Given the description of an element on the screen output the (x, y) to click on. 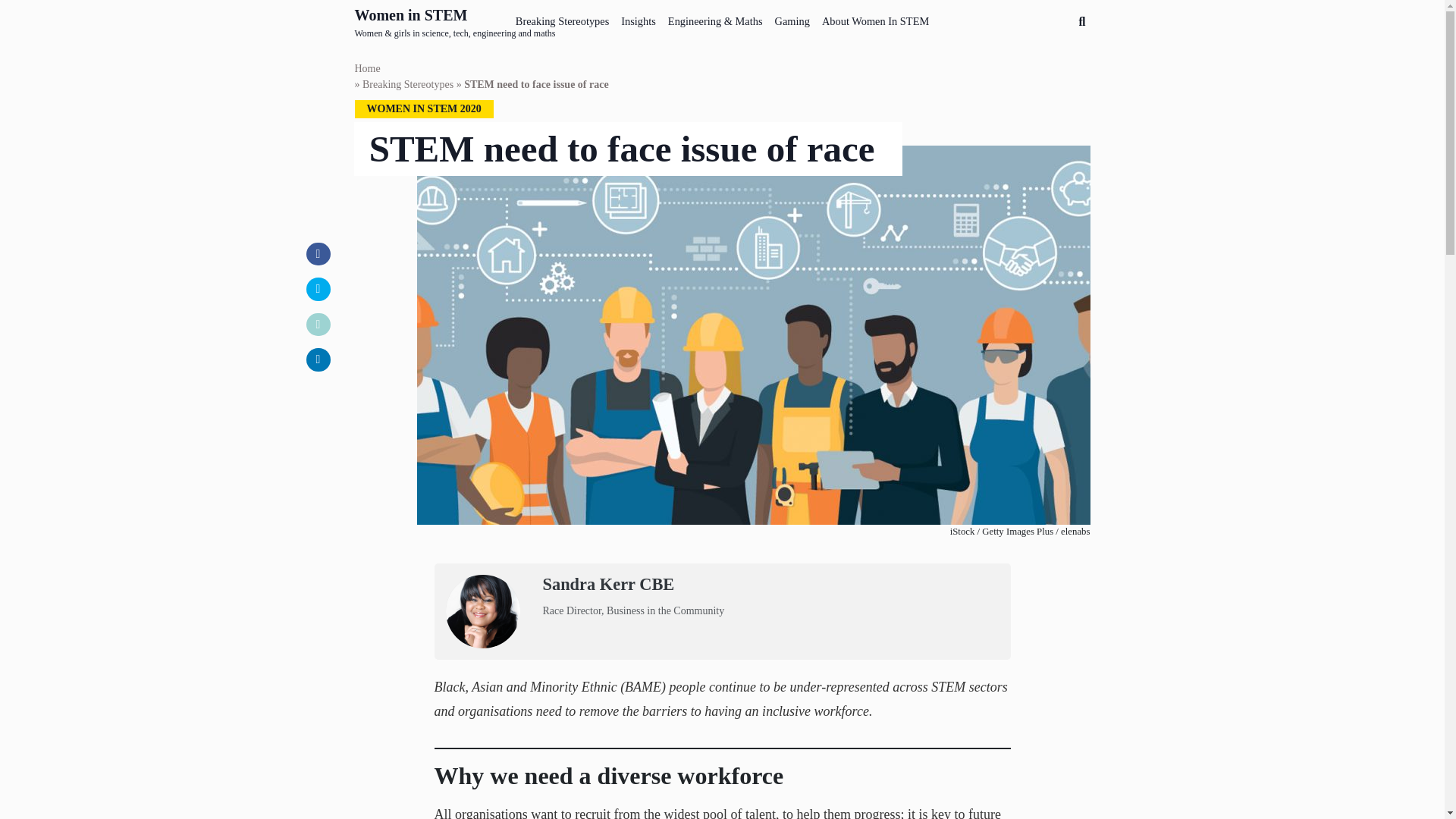
Breaking Stereotypes (407, 84)
Gaming (791, 18)
Insights (638, 18)
Home (367, 68)
About Women In STEM (874, 18)
Breaking Stereotypes (562, 18)
